Given the description of an element on the screen output the (x, y) to click on. 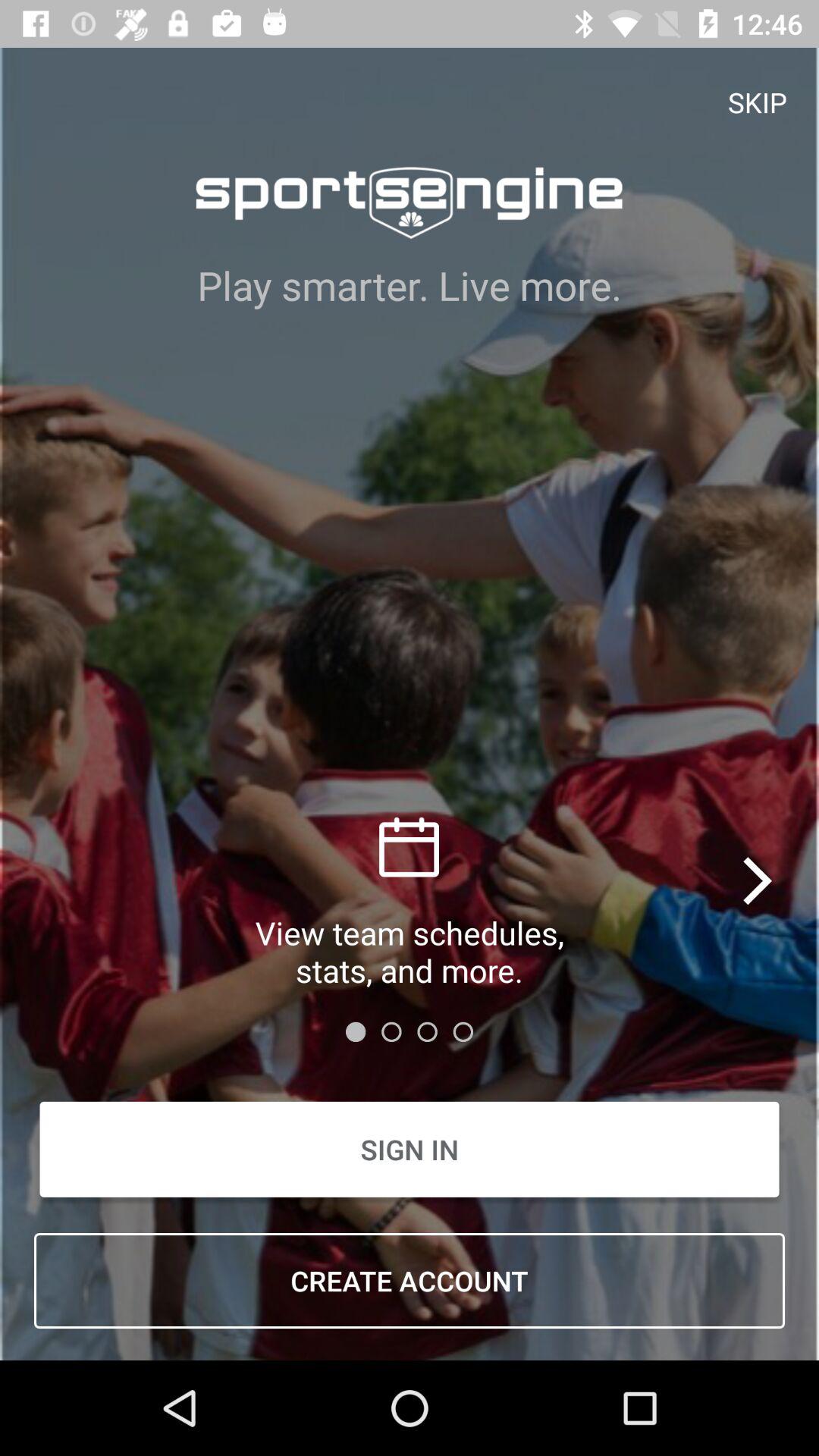
launch the item above play smarter live item (757, 102)
